Given the description of an element on the screen output the (x, y) to click on. 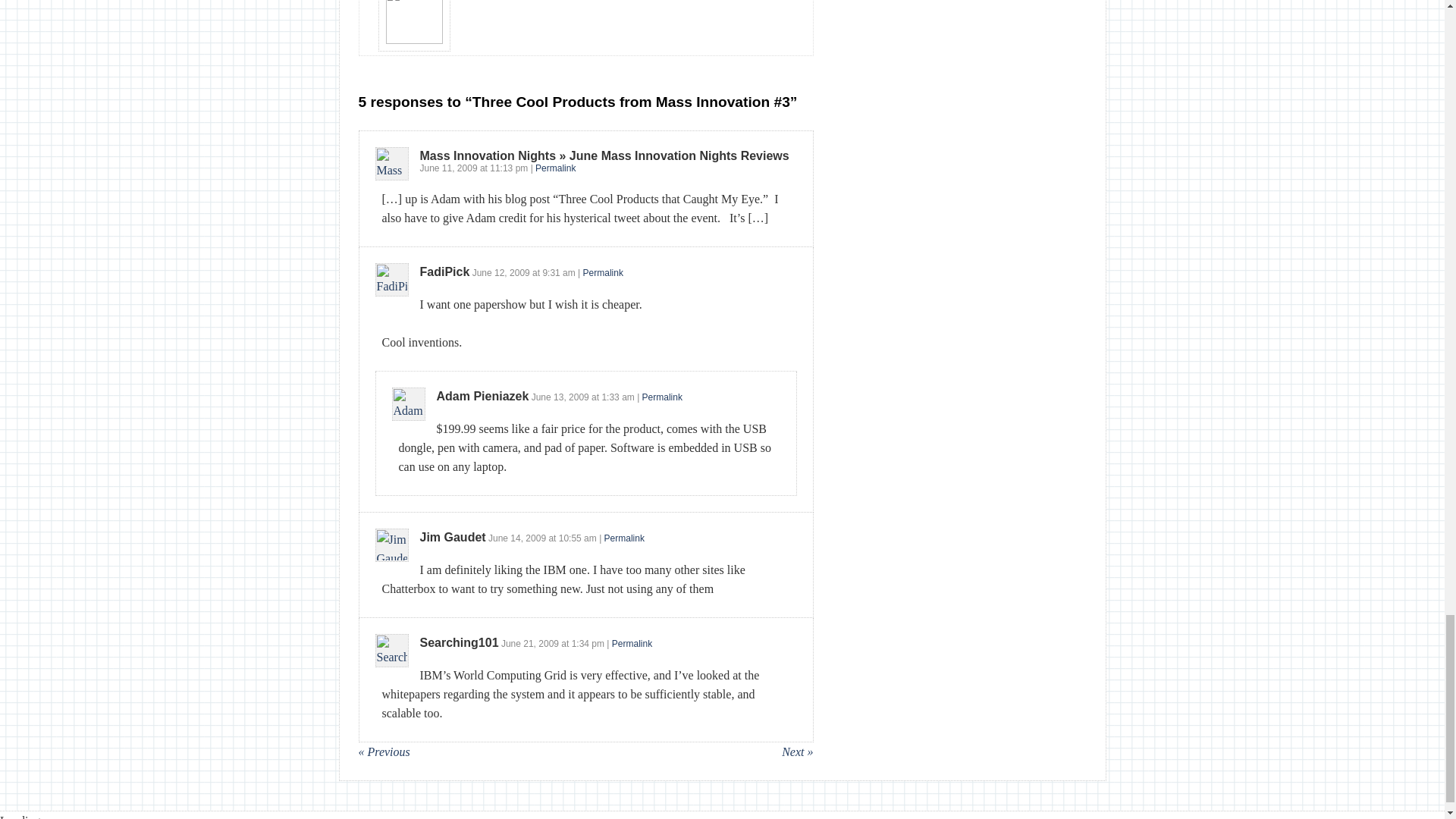
FadiPick (445, 271)
Permalink (555, 167)
Thursday, June 11th, 2009, 11:13 pm (508, 167)
Permalink to comment 30773 (555, 167)
Thursday, June 11th, 2009, 11:13 pm (448, 167)
Permalink (603, 272)
Adam Pieniazek (482, 395)
Jim Gaudet (453, 536)
Permalink (624, 538)
Permalink (662, 397)
